Given the description of an element on the screen output the (x, y) to click on. 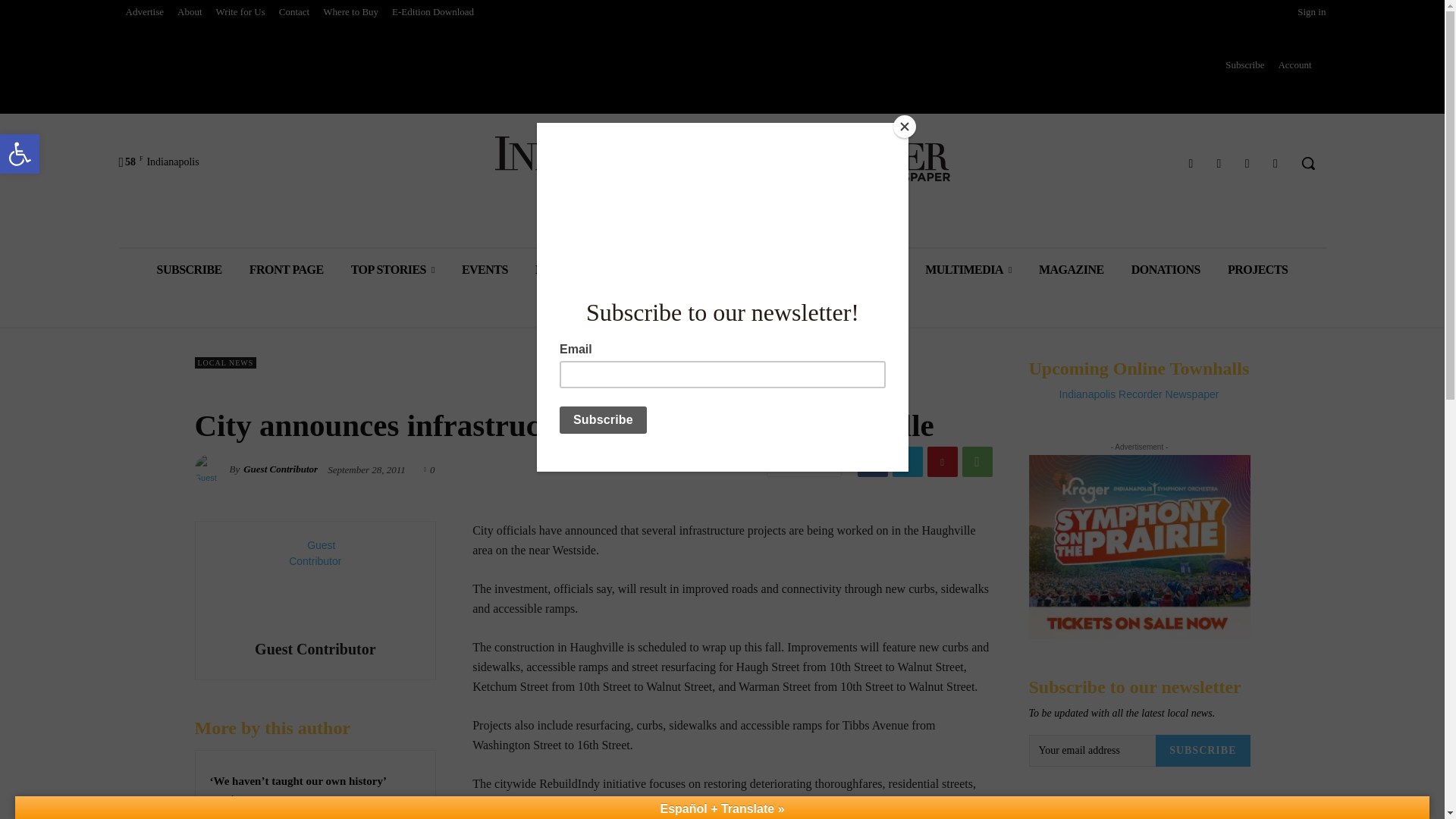
Instagram (1218, 163)
Twitter (1246, 163)
Accessibility Tools (19, 153)
Accessibility Tools (19, 153)
Youtube (19, 153)
Facebook (1275, 163)
